Given the description of an element on the screen output the (x, y) to click on. 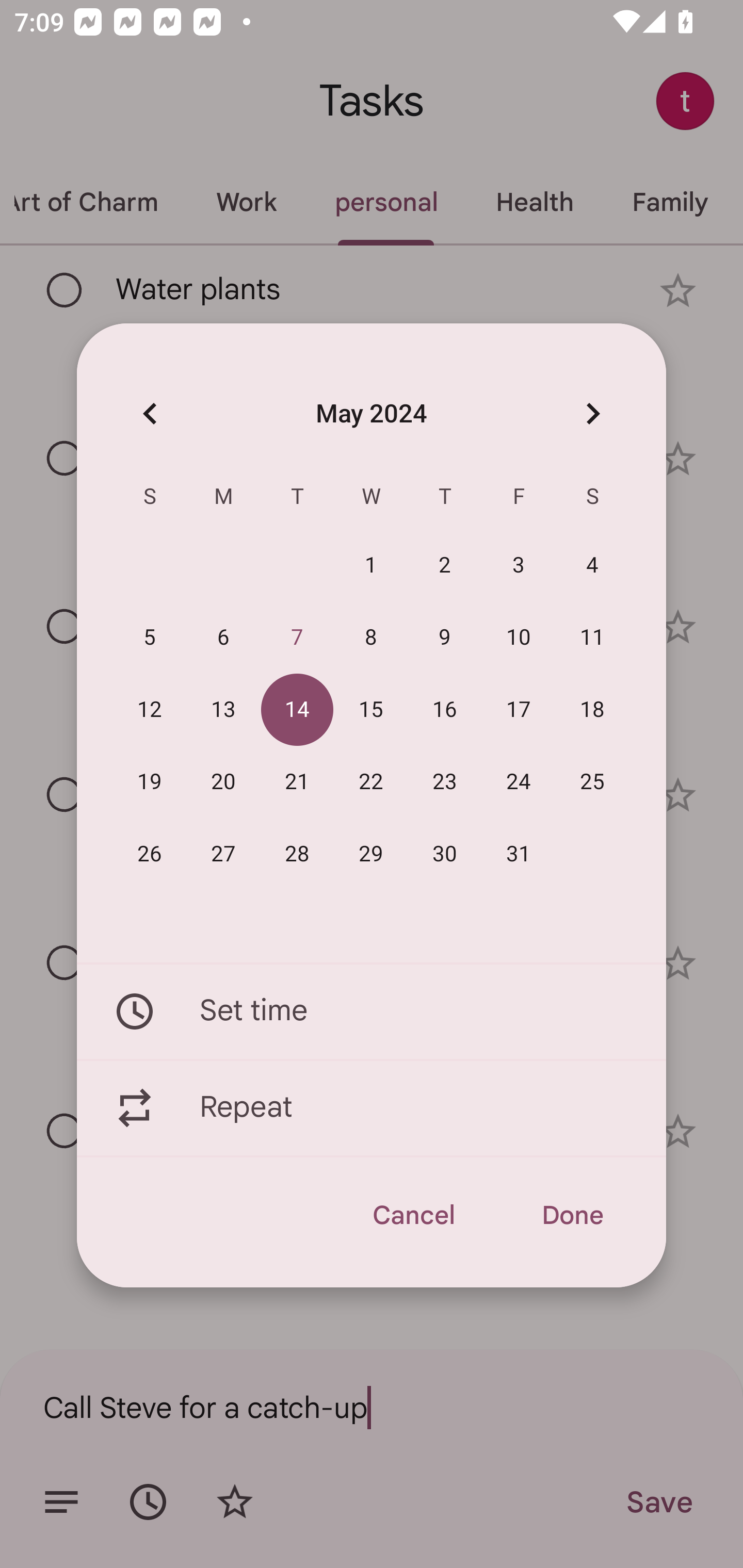
Previous month (149, 413)
Next month (592, 413)
1 01 May 2024 (370, 565)
2 02 May 2024 (444, 565)
3 03 May 2024 (518, 565)
4 04 May 2024 (592, 565)
5 05 May 2024 (149, 638)
6 06 May 2024 (223, 638)
7 07 May 2024 (297, 638)
8 08 May 2024 (370, 638)
9 09 May 2024 (444, 638)
10 10 May 2024 (518, 638)
11 11 May 2024 (592, 638)
12 12 May 2024 (149, 710)
13 13 May 2024 (223, 710)
14 14 May 2024 (297, 710)
15 15 May 2024 (370, 710)
16 16 May 2024 (444, 710)
17 17 May 2024 (518, 710)
18 18 May 2024 (592, 710)
19 19 May 2024 (149, 782)
20 20 May 2024 (223, 782)
21 21 May 2024 (297, 782)
22 22 May 2024 (370, 782)
23 23 May 2024 (444, 782)
24 24 May 2024 (518, 782)
25 25 May 2024 (592, 782)
26 26 May 2024 (149, 854)
27 27 May 2024 (223, 854)
28 28 May 2024 (297, 854)
29 29 May 2024 (370, 854)
30 30 May 2024 (444, 854)
31 31 May 2024 (518, 854)
Set time (371, 1011)
Repeat (371, 1108)
Cancel (412, 1215)
Done (571, 1215)
